Given the description of an element on the screen output the (x, y) to click on. 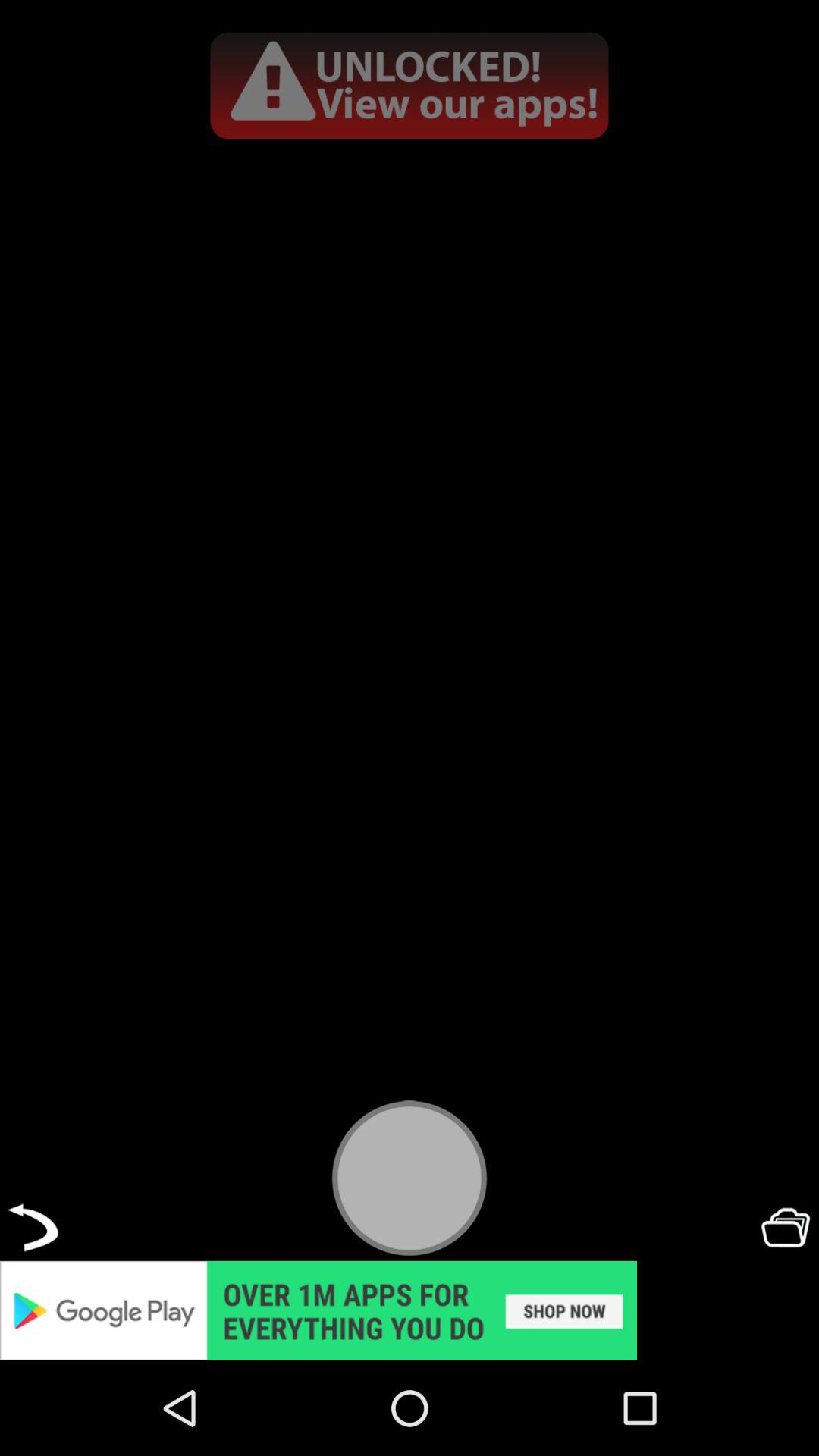
open (785, 1227)
